Given the description of an element on the screen output the (x, y) to click on. 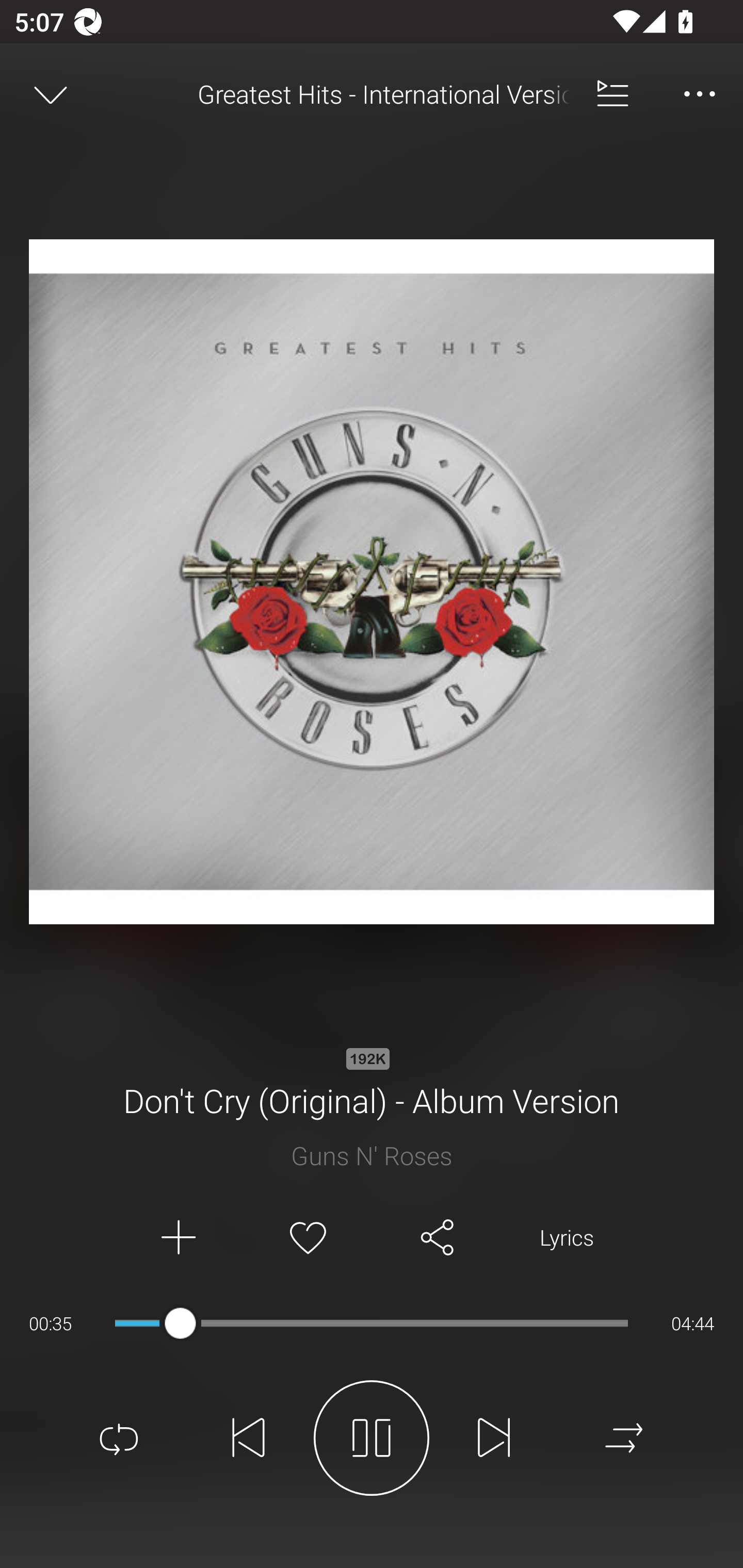
縮小播放介面 (50, 93)
現正播放清單 (612, 93)
更多操作選項 (699, 93)
Don't Cry (371, 1113)
Guns N' Roses (371, 1155)
加入到新歌單 (177, 1237)
加入收藏, 未加入 (307, 1237)
Lyrics (566, 1237)
暫停播放 (371, 1437)
不重複播放 (118, 1438)
播放前一首 (248, 1438)
播放下一首 (494, 1438)
循序播放 (624, 1438)
